Given the description of an element on the screen output the (x, y) to click on. 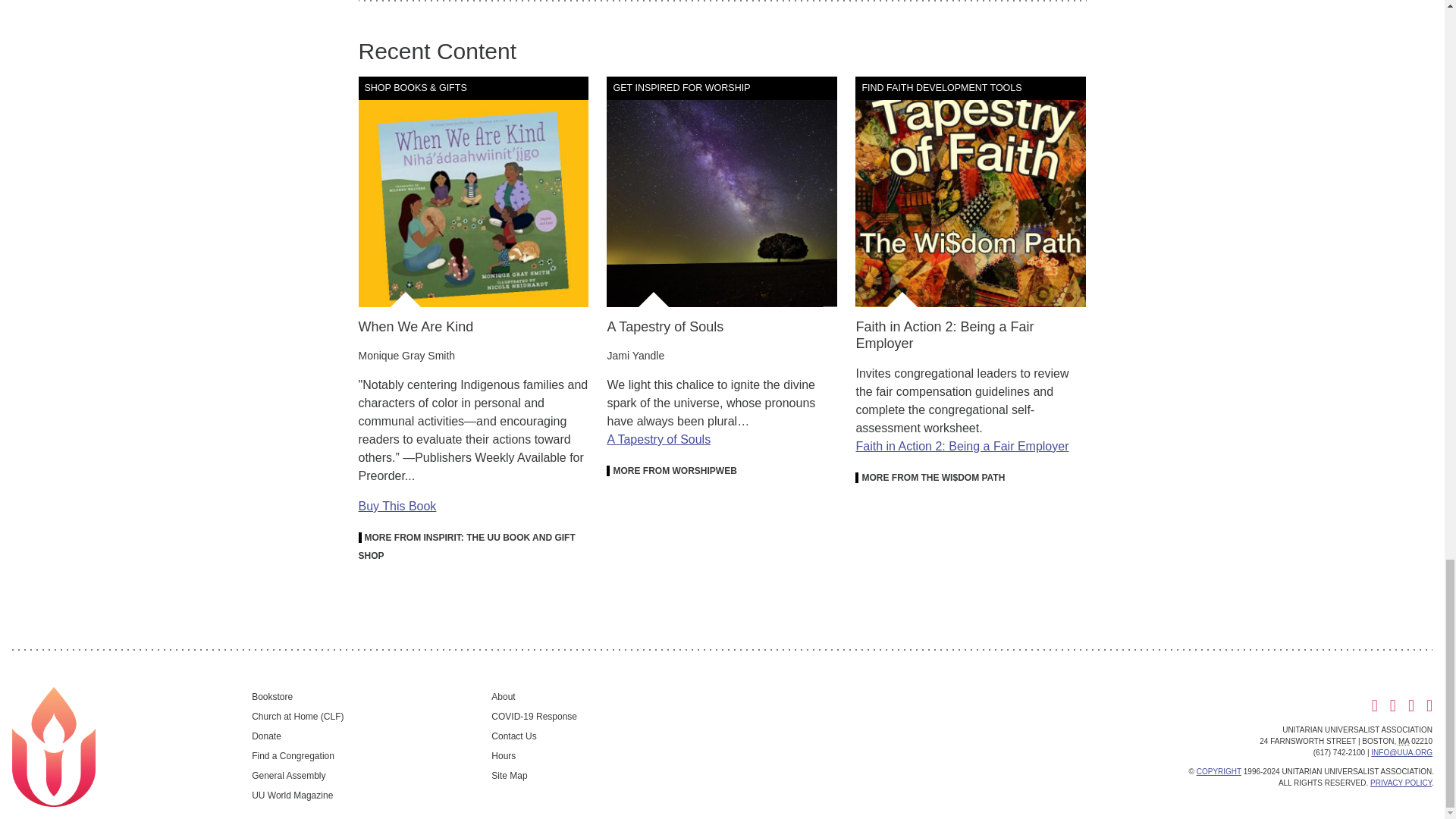
Posted by user Pexels on pixabay.com (722, 191)
